Given the description of an element on the screen output the (x, y) to click on. 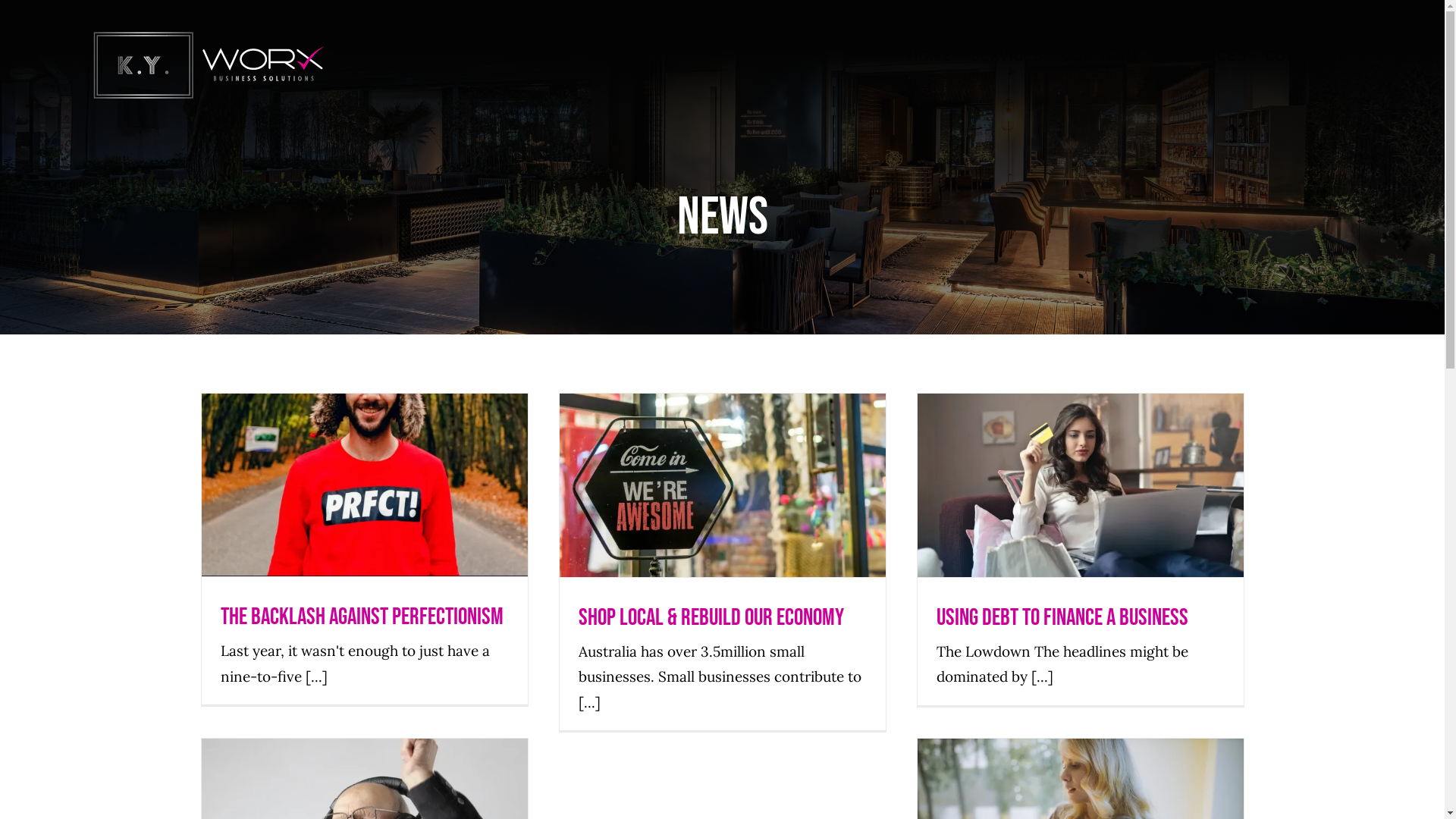
The backlash against perfectionism Element type: text (361, 616)
Shop Local & Rebuild Our Economy Element type: text (711, 617)
HOME Element type: text (928, 54)
RESOURCES Element type: text (1200, 54)
CONTACT Element type: text (1298, 54)
OUR TEAM Element type: text (1098, 54)
Using Debt To Finance A Business Element type: text (1062, 617)
SERVICES Element type: text (1006, 54)
